Given the description of an element on the screen output the (x, y) to click on. 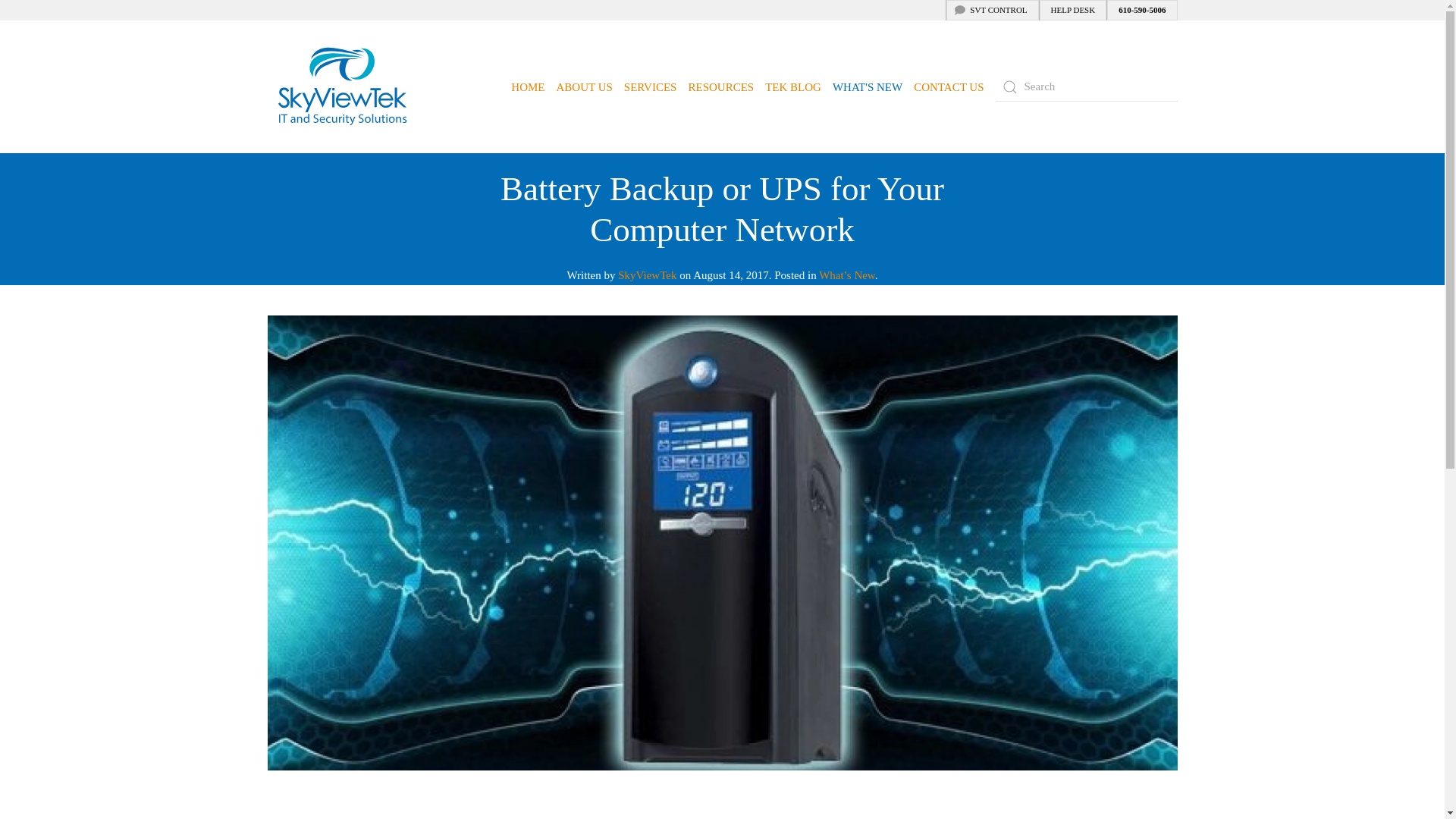
RESOURCES (720, 86)
610-590-5006 (1141, 10)
SVT CONTROL (992, 10)
SERVICES (650, 86)
HELP DESK (1072, 10)
WHAT'S NEW (867, 86)
TEK BLOG (793, 86)
CONTACT US (949, 86)
SkyViewTek (647, 275)
ABOUT US (583, 86)
